Given the description of an element on the screen output the (x, y) to click on. 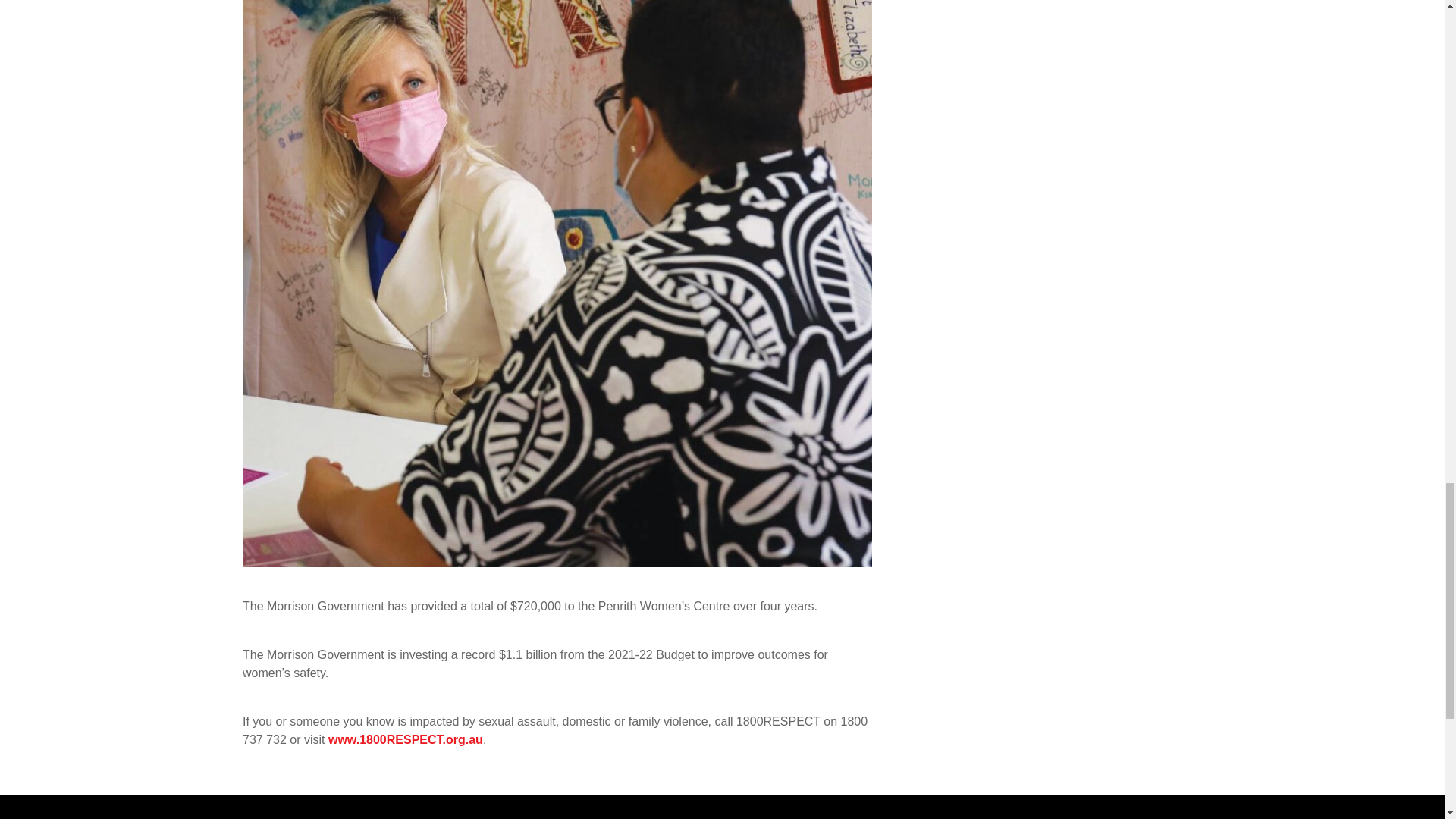
www.1800RESPECT.org.au (406, 739)
